Given the description of an element on the screen output the (x, y) to click on. 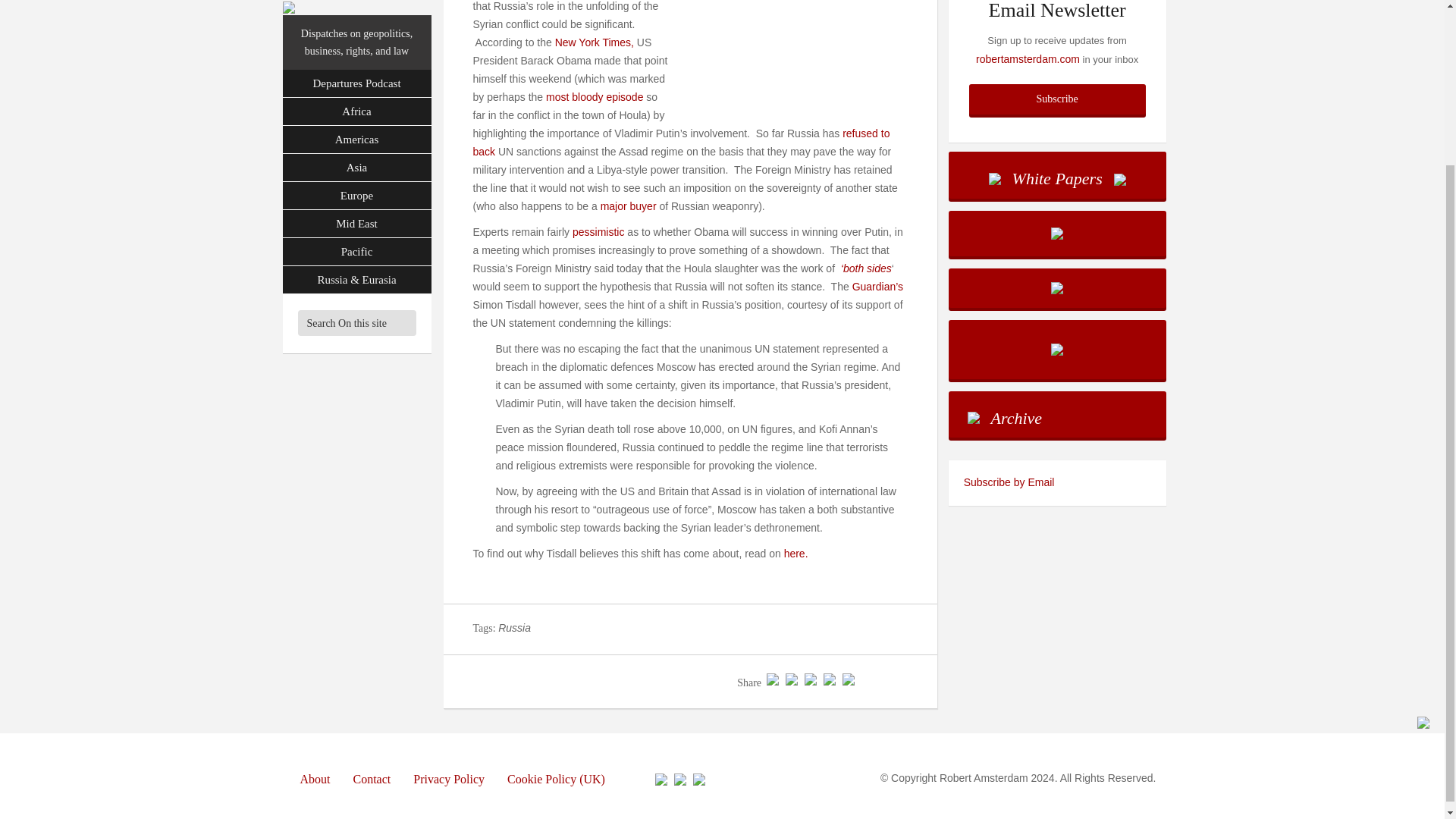
pessimistic (598, 232)
Europe (356, 99)
here.  (797, 553)
most bloody episode (596, 96)
robertamsterdam.com (1027, 59)
New York Times, (595, 42)
Americas (356, 42)
Asia (356, 70)
Africa (356, 14)
Mid East (356, 126)
major buyer (627, 205)
Subscribe to the Robert Amsterdam feed by email (1057, 483)
Pacific (356, 154)
Subscribe (1057, 99)
Russia (514, 627)
